Given the description of an element on the screen output the (x, y) to click on. 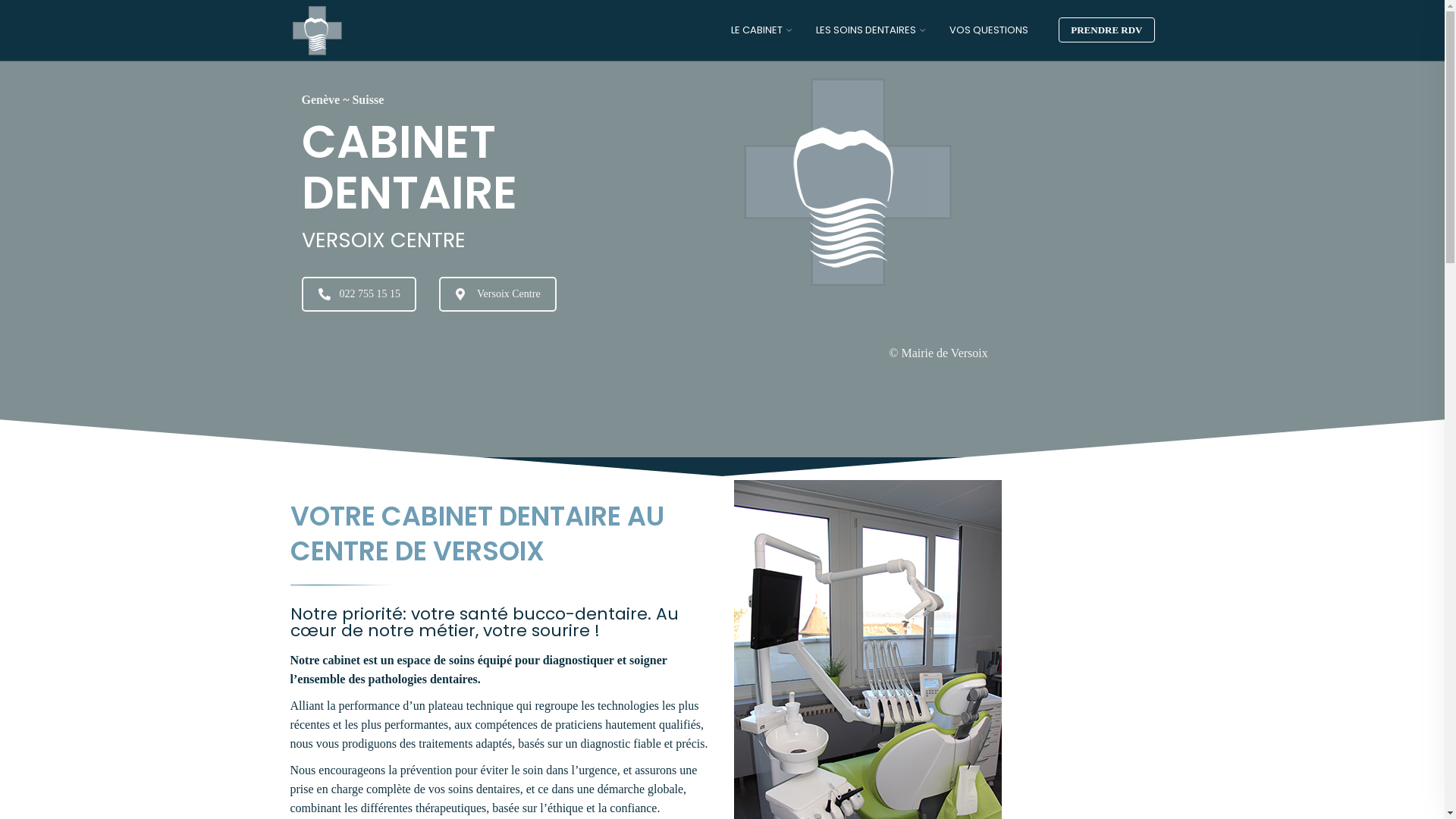
Mairie de Versoix Element type: text (943, 352)
LE CABINET Element type: text (756, 29)
LES SOINS DENTAIRES Element type: text (865, 29)
Versoix Centre Element type: text (497, 293)
Search Element type: text (17, 15)
022 755 15 15 Element type: text (359, 293)
PRENDRE RDV Element type: text (1106, 29)
VOS QUESTIONS Element type: text (988, 29)
